Given the description of an element on the screen output the (x, y) to click on. 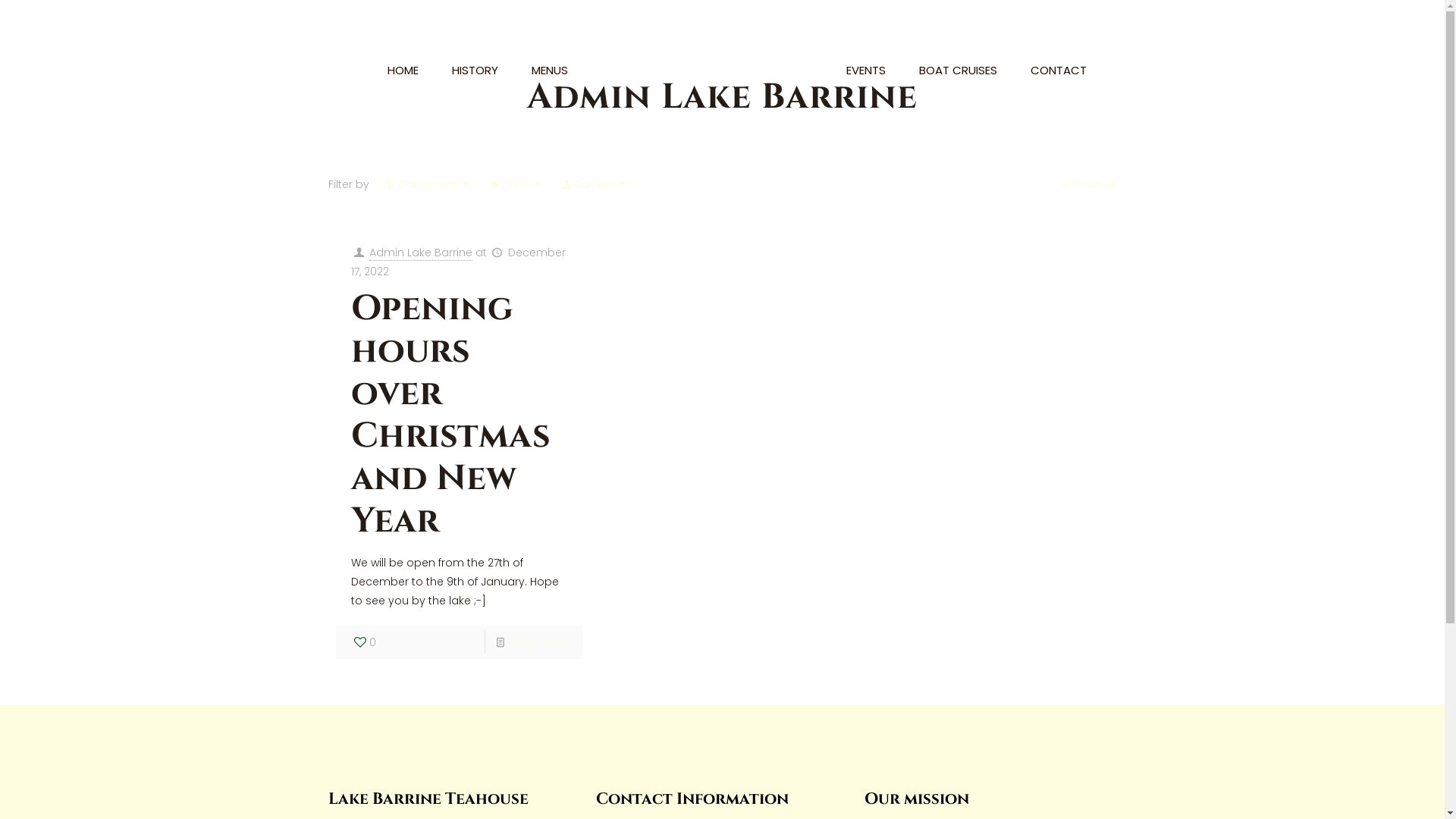
Categories Element type: text (427, 183)
HOME Element type: text (402, 70)
Read more Element type: text (541, 641)
MENUS Element type: text (549, 70)
Show all Element type: text (1086, 183)
Opening hours over Christmas and New Year Element type: text (450, 414)
BOAT CRUISES Element type: text (957, 70)
CONTACT Element type: text (1058, 70)
Authors Element type: text (594, 183)
0 Element type: text (363, 641)
Admin Lake Barrine Element type: text (420, 252)
Lake Barrine Teahouse Element type: hover (721, 70)
HISTORY Element type: text (474, 70)
Tags Element type: text (516, 183)
EVENTS Element type: text (865, 70)
